Given the description of an element on the screen output the (x, y) to click on. 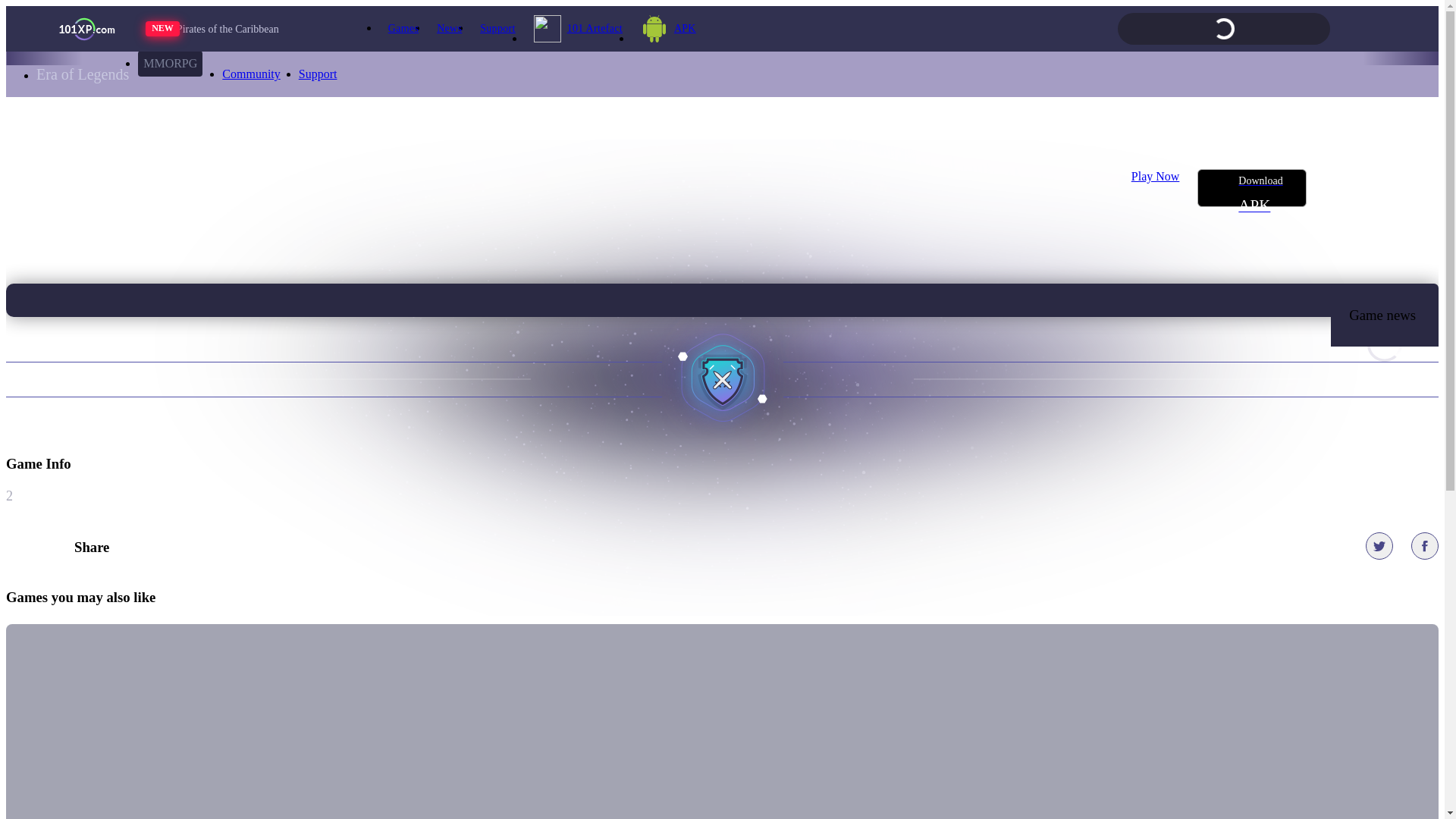
Support Element type: text (497, 28)
Support Element type: text (317, 73)
Games Element type: text (403, 28)
Download
APK Element type: text (1251, 188)
NEW
Pirates of the Caribbean Element type: text (239, 29)
APK Element type: text (668, 28)
News Element type: text (448, 28)
101 Artefact Element type: text (577, 28)
Play Now Element type: text (1155, 187)
Community Element type: text (250, 73)
